Given the description of an element on the screen output the (x, y) to click on. 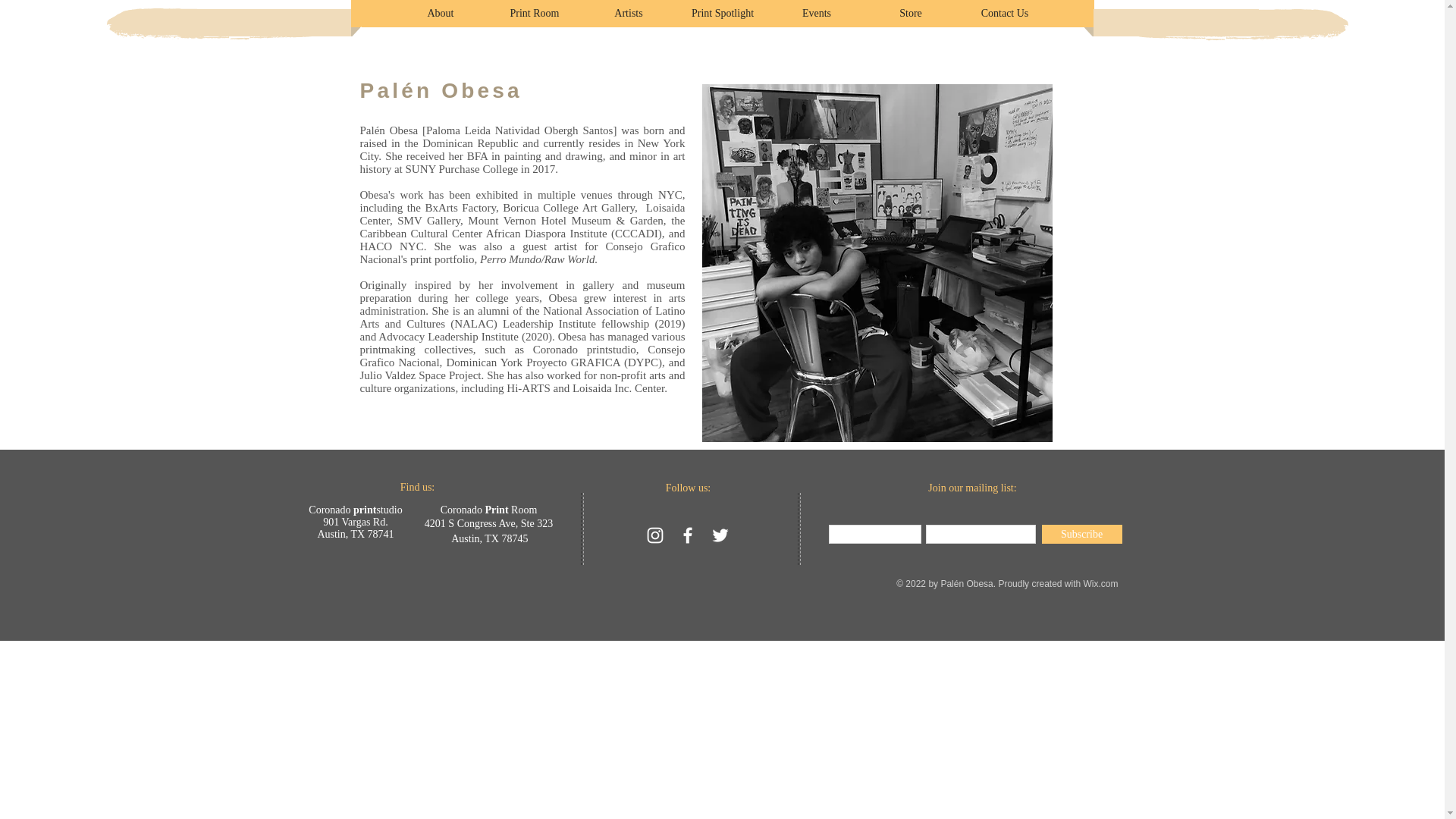
Contact Us (1003, 13)
About (439, 13)
Subscribe (1082, 533)
Print Room (533, 13)
Artists (627, 13)
Print Spotlight (721, 13)
Store (909, 13)
Events (815, 13)
Wix.com (1100, 583)
